Given the description of an element on the screen output the (x, y) to click on. 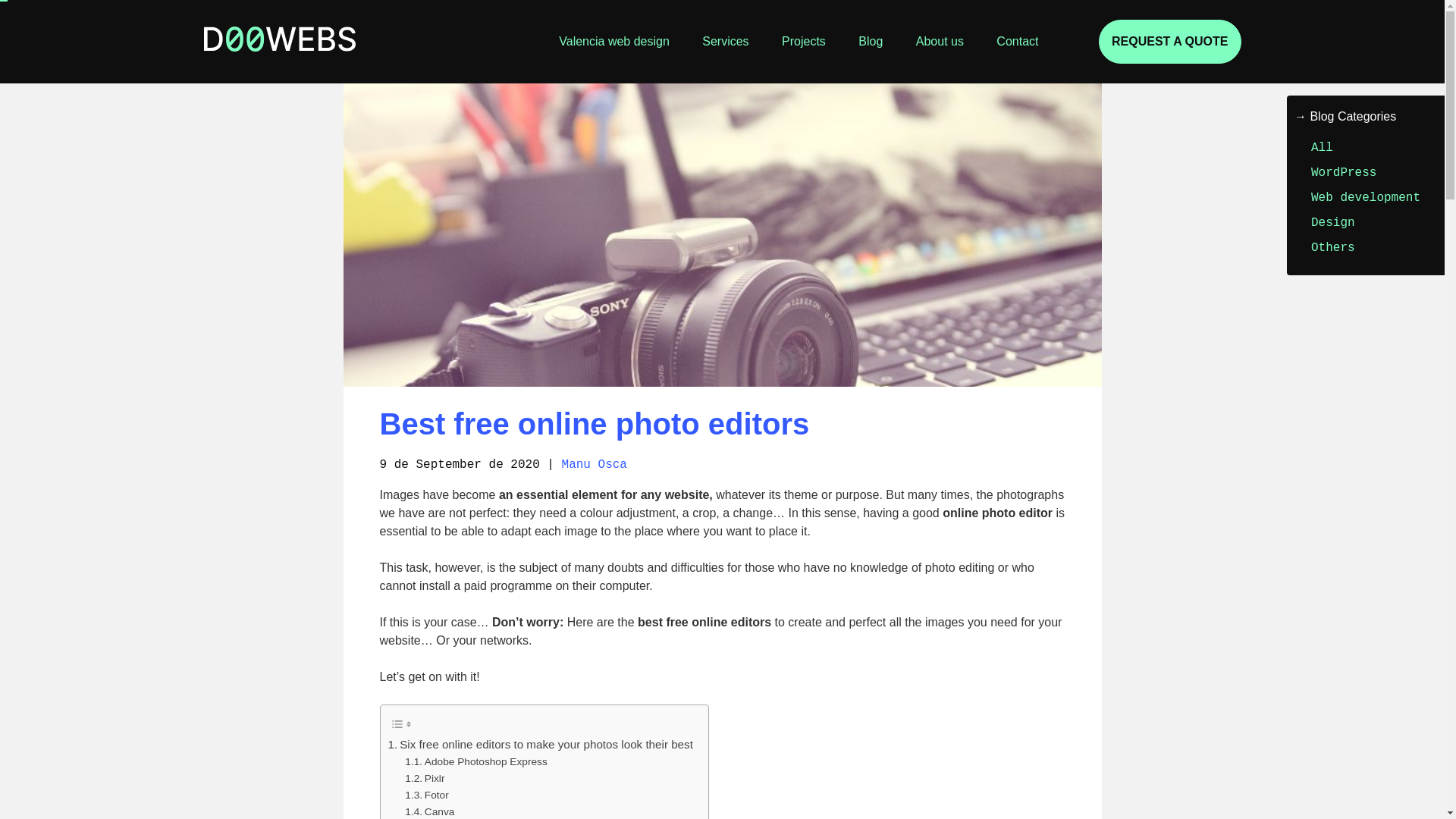
Canva (429, 811)
Valencia web design (614, 41)
Six free online editors to make your photos look their best (540, 744)
Pixlr (424, 778)
Design (1333, 223)
Services (724, 41)
All (1322, 147)
Contact (1016, 41)
Canva (429, 811)
Adobe Photoshop Express (475, 761)
